Given the description of an element on the screen output the (x, y) to click on. 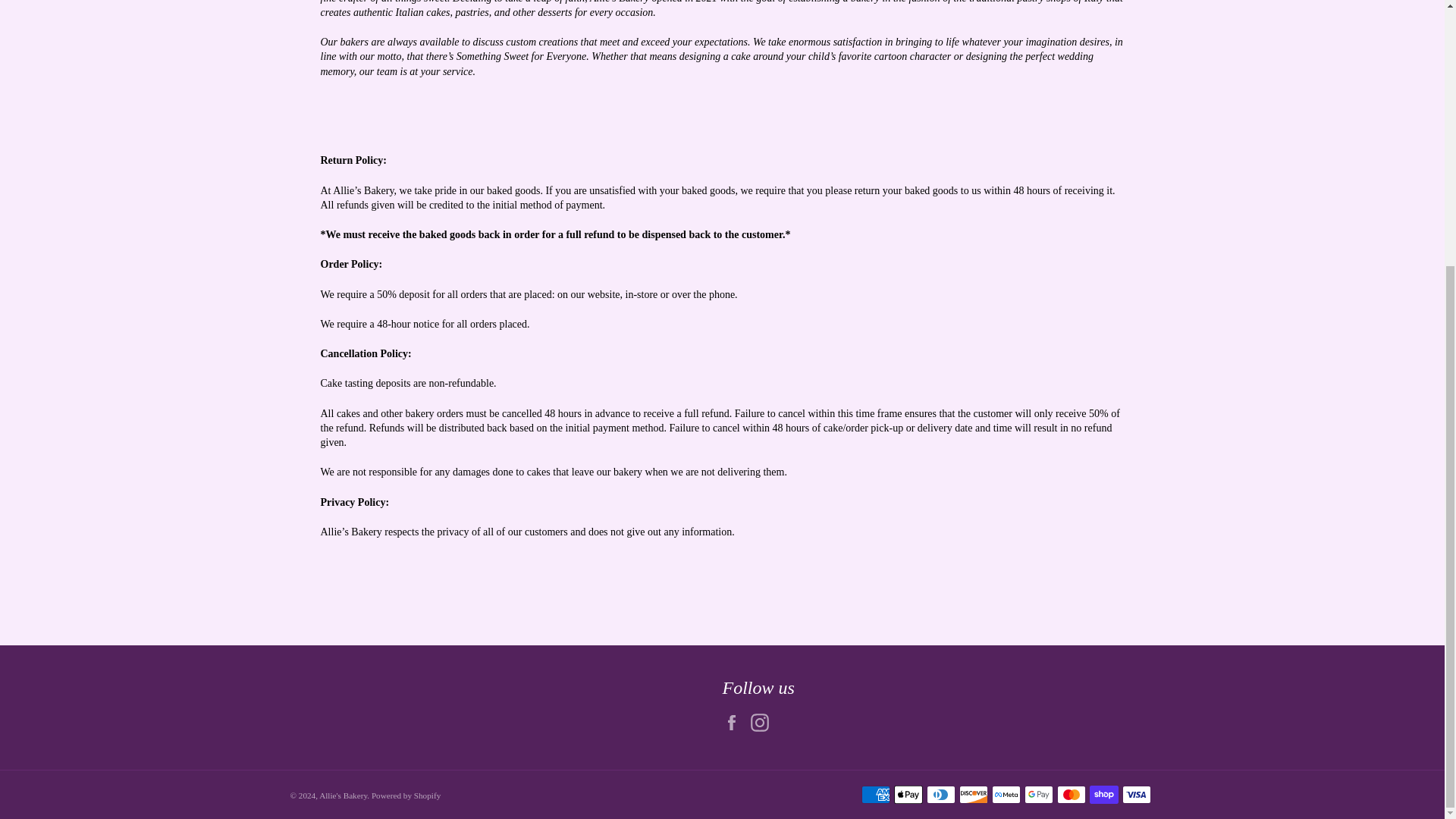
Facebook (735, 722)
Allie's Bakery (342, 795)
Powered by Shopify (406, 795)
Allie's Bakery on Facebook (735, 722)
Allie's Bakery on Instagram (763, 722)
Instagram (763, 722)
